Given the description of an element on the screen output the (x, y) to click on. 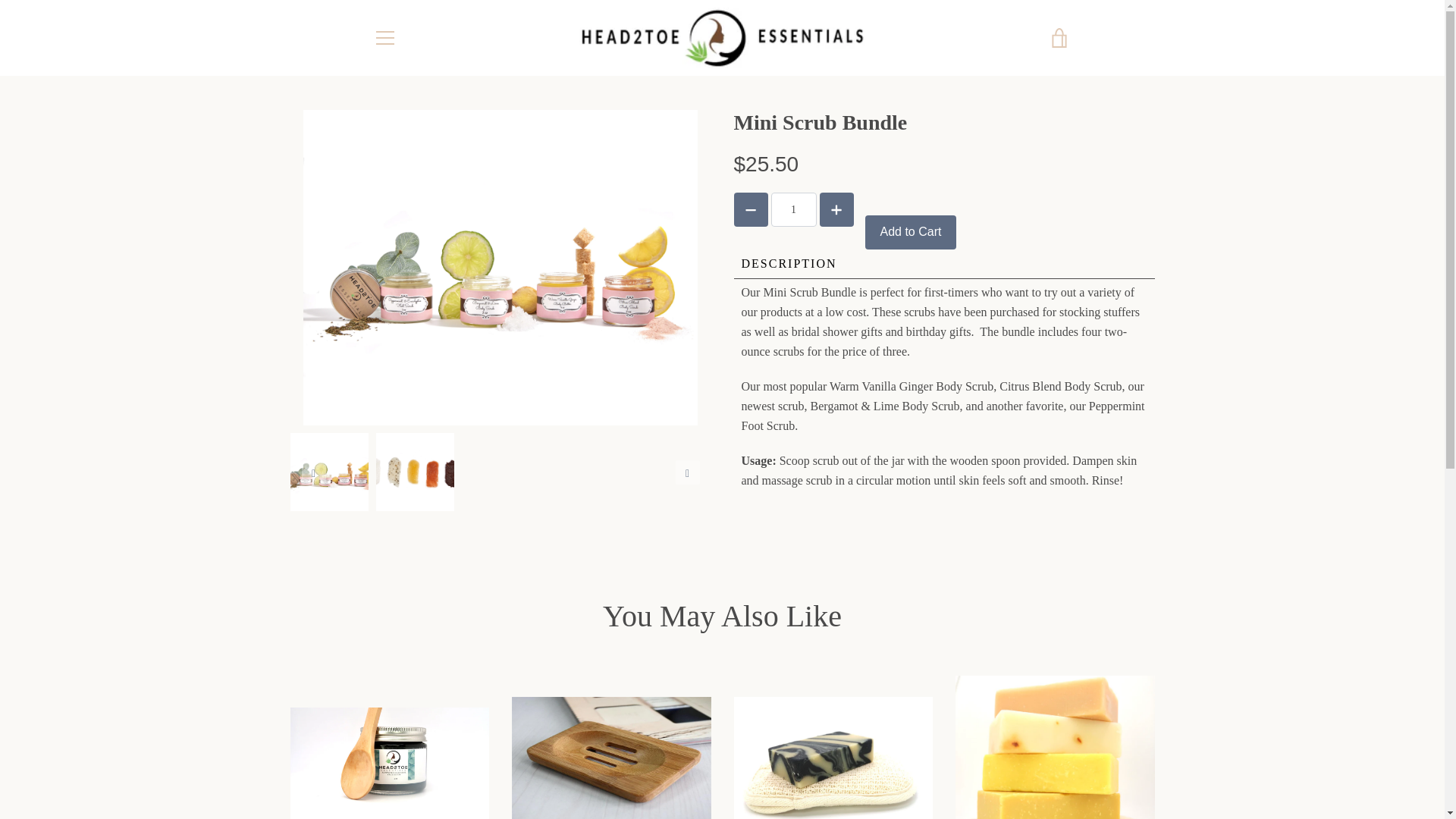
MENU (384, 37)
1 (792, 209)
